Given the description of an element on the screen output the (x, y) to click on. 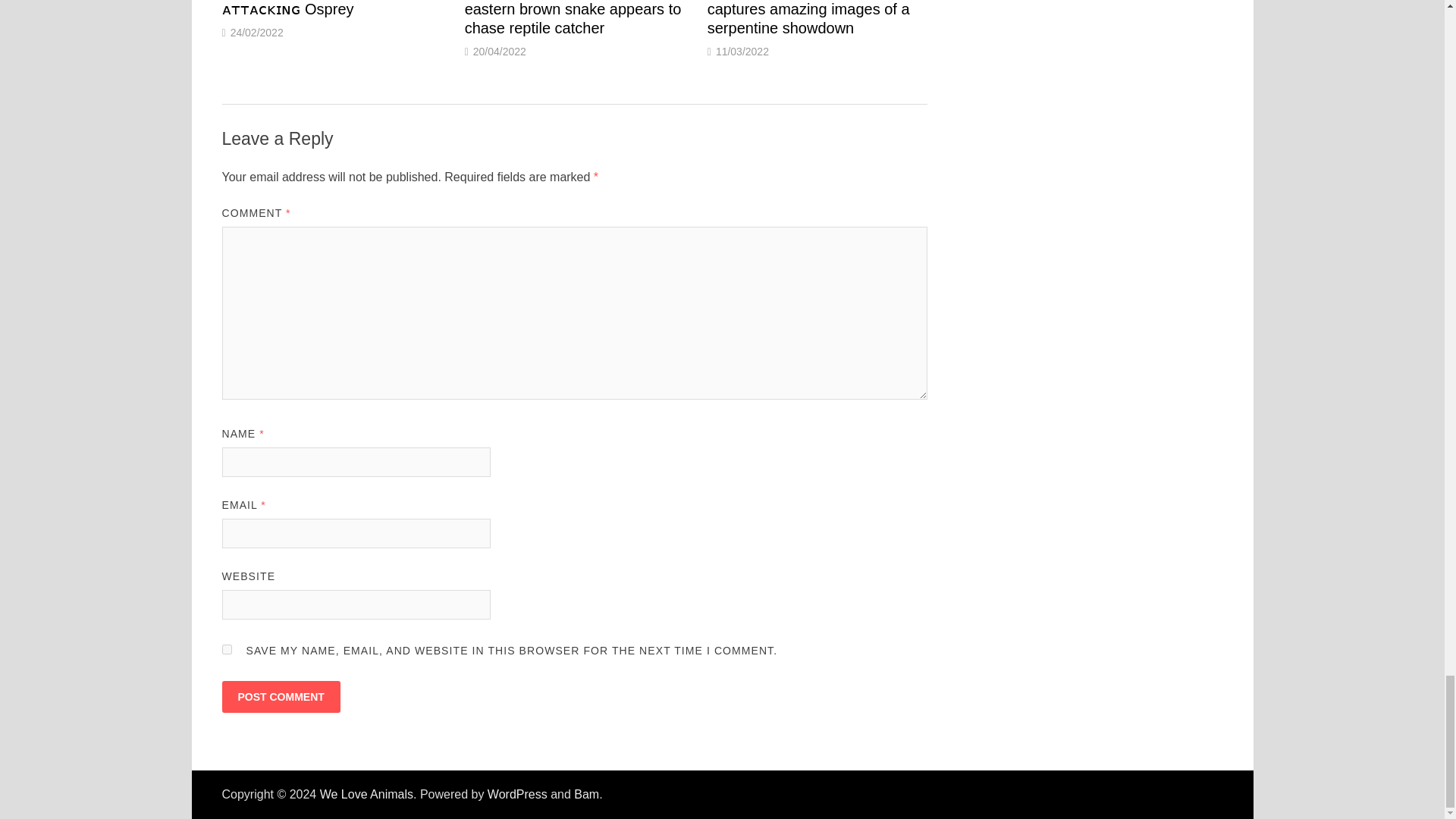
We Love Animals (366, 793)
yes (226, 649)
Post Comment (280, 696)
